Given the description of an element on the screen output the (x, y) to click on. 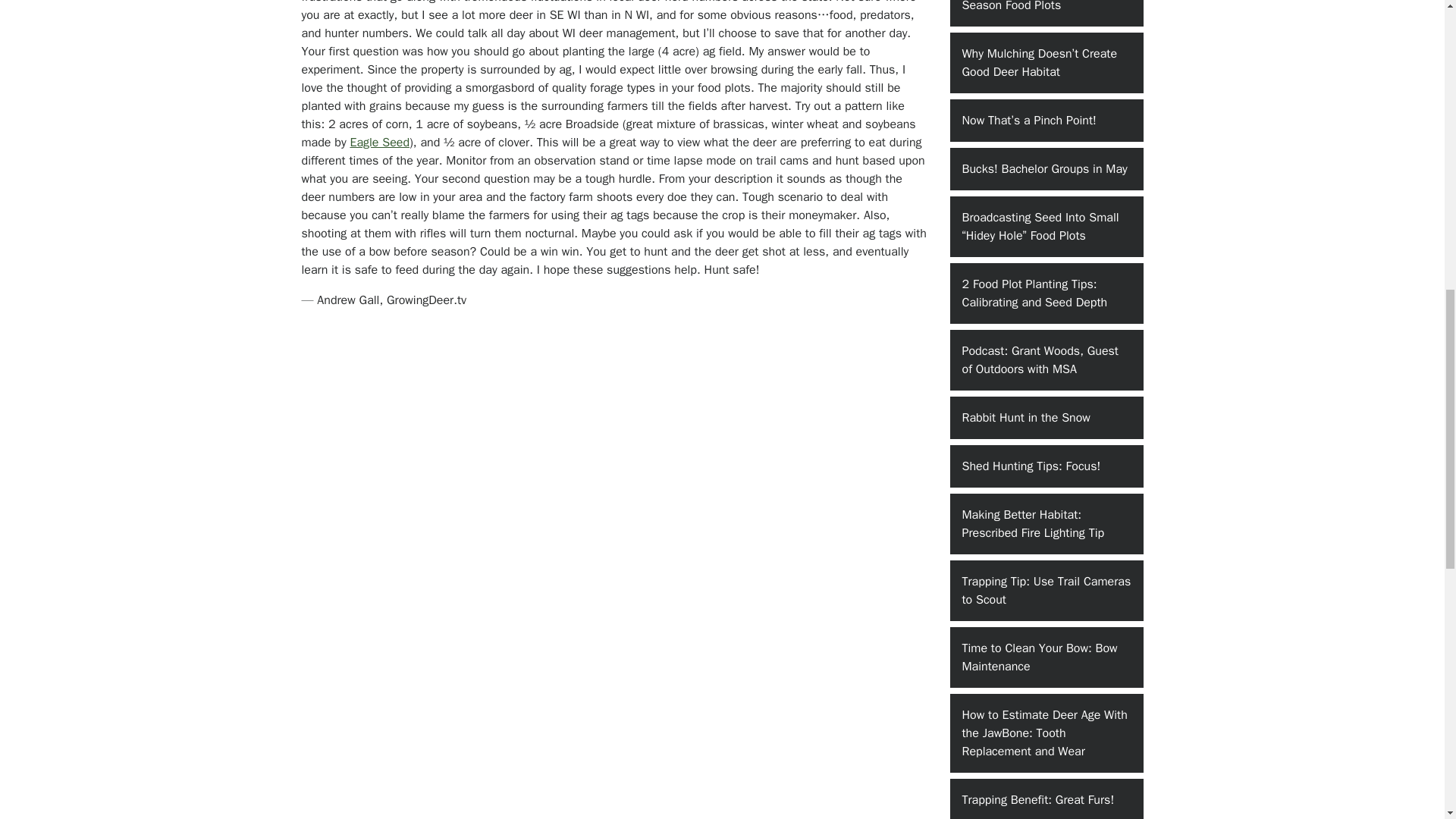
Trapping Tip: Use Trail Cameras to Scout (1045, 590)
Rabbit Hunt in the Snow (1045, 417)
Eagle Seed (379, 142)
Making Better Habitat: Prescribed Fire Lighting Tip (1045, 523)
Time to Clean Your Bow: Bow Maintenance (1045, 657)
Trapping Benefit: Great Furs! (1045, 798)
Bucks! Bachelor Groups in May (1045, 169)
2 Food Plot Planting Tips: Calibrating and Seed Depth (1045, 292)
Podcast: Grant Woods, Guest of Outdoors with MSA (1045, 360)
Shed Hunting Tips: Focus! (1045, 466)
